Given the description of an element on the screen output the (x, y) to click on. 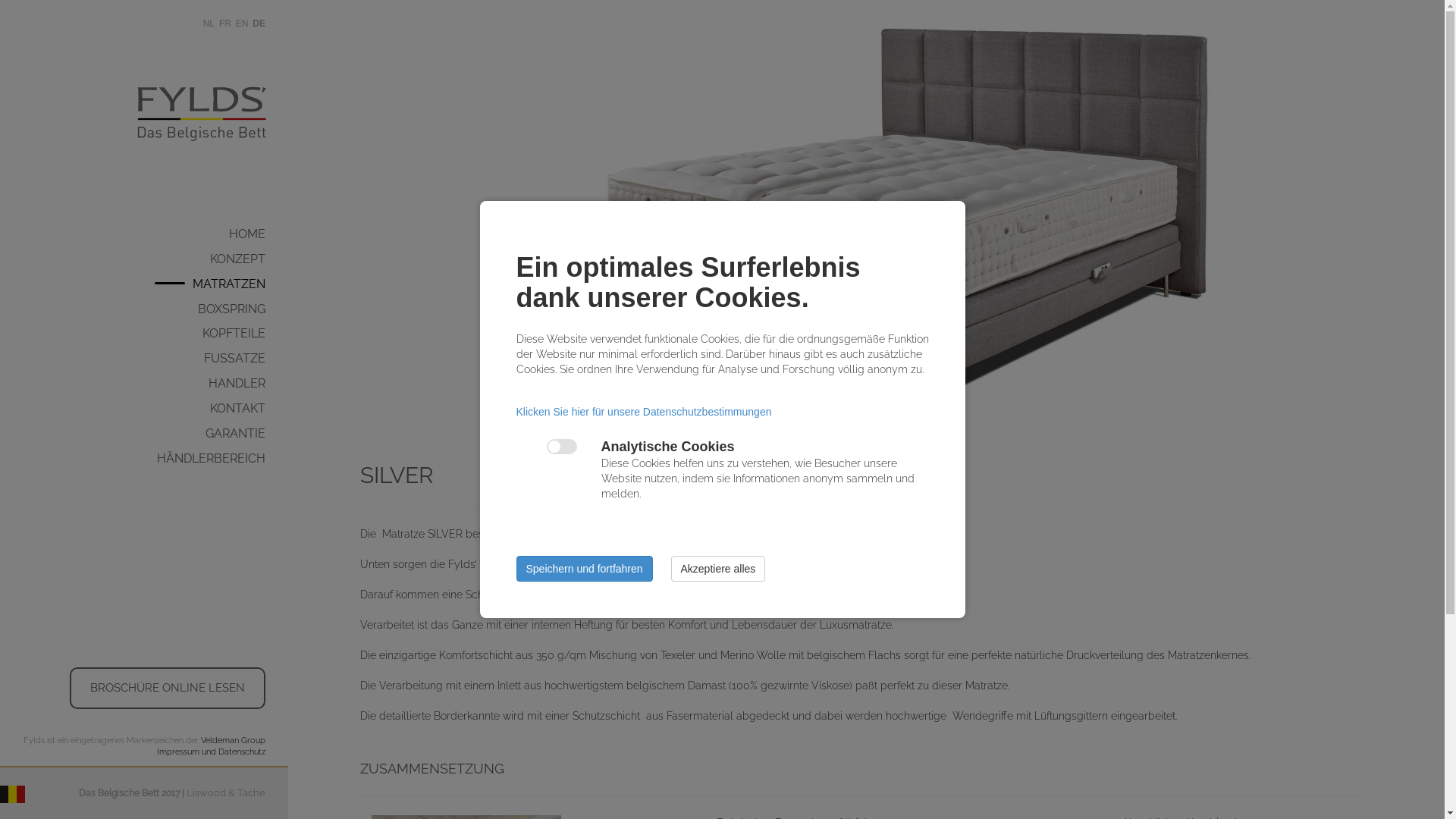
FR Element type: text (225, 23)
KONZEPT Element type: text (249, 259)
Impressum und Datenschutz Element type: text (210, 751)
BOXSPRING Element type: text (242, 309)
Speichern und fortfahren Element type: text (583, 568)
FUSSATZE Element type: text (245, 358)
KOPFTEILE Element type: text (245, 333)
BRONZE Element type: text (363, 398)
HOME Element type: text (258, 234)
GARANTIE Element type: text (246, 433)
SILVER Element type: text (363, 370)
BELGISCHE HANDWERKSKUNST Element type: text (363, 272)
Akzeptiere alles Element type: text (717, 568)
NL Element type: text (208, 23)
HANDLER Element type: text (248, 383)
PROGRESSIVE FEDERKOMBINATION Element type: text (363, 315)
EINZIGARTIGE KOMFORTSCHICHT Element type: text (363, 358)
GOLD Element type: text (363, 344)
EN Element type: text (241, 23)
MATRATZEN Element type: text (240, 284)
KONTAKT Element type: text (249, 408)
DIAMOND Element type: text (363, 290)
PLATINUM Element type: text (363, 317)
Liswood & Tache Element type: text (225, 792)
Veldeman Group Element type: text (232, 740)
